Given the description of an element on the screen output the (x, y) to click on. 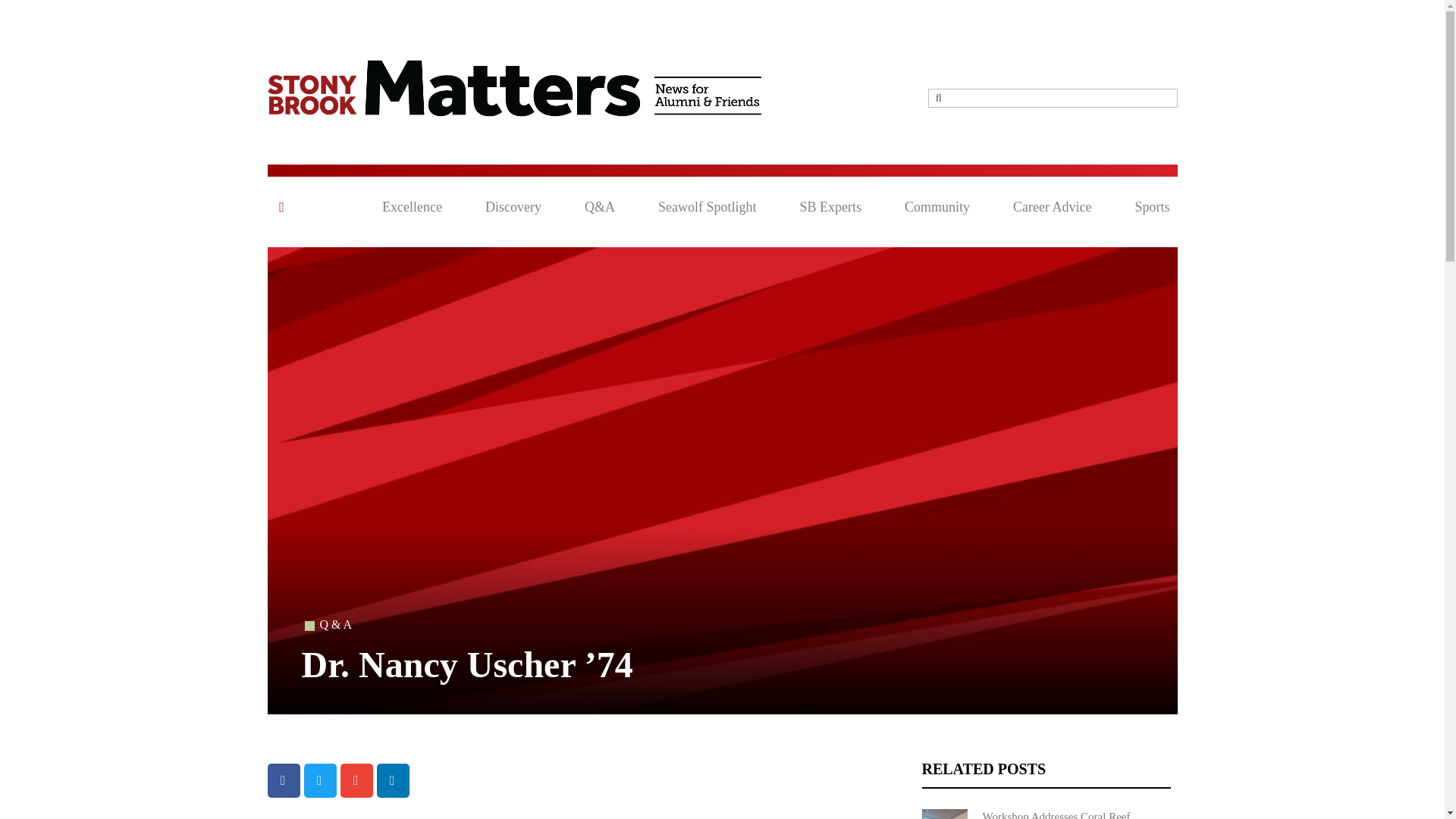
Career Advice (1051, 206)
Seawolf Spotlight (707, 206)
SB Experts (830, 206)
Workshop Addresses Coral Reef Resilience and Conservation (1045, 814)
Discovery (512, 206)
Community (936, 206)
Sports (1151, 206)
Excellence (411, 206)
